Given the description of an element on the screen output the (x, y) to click on. 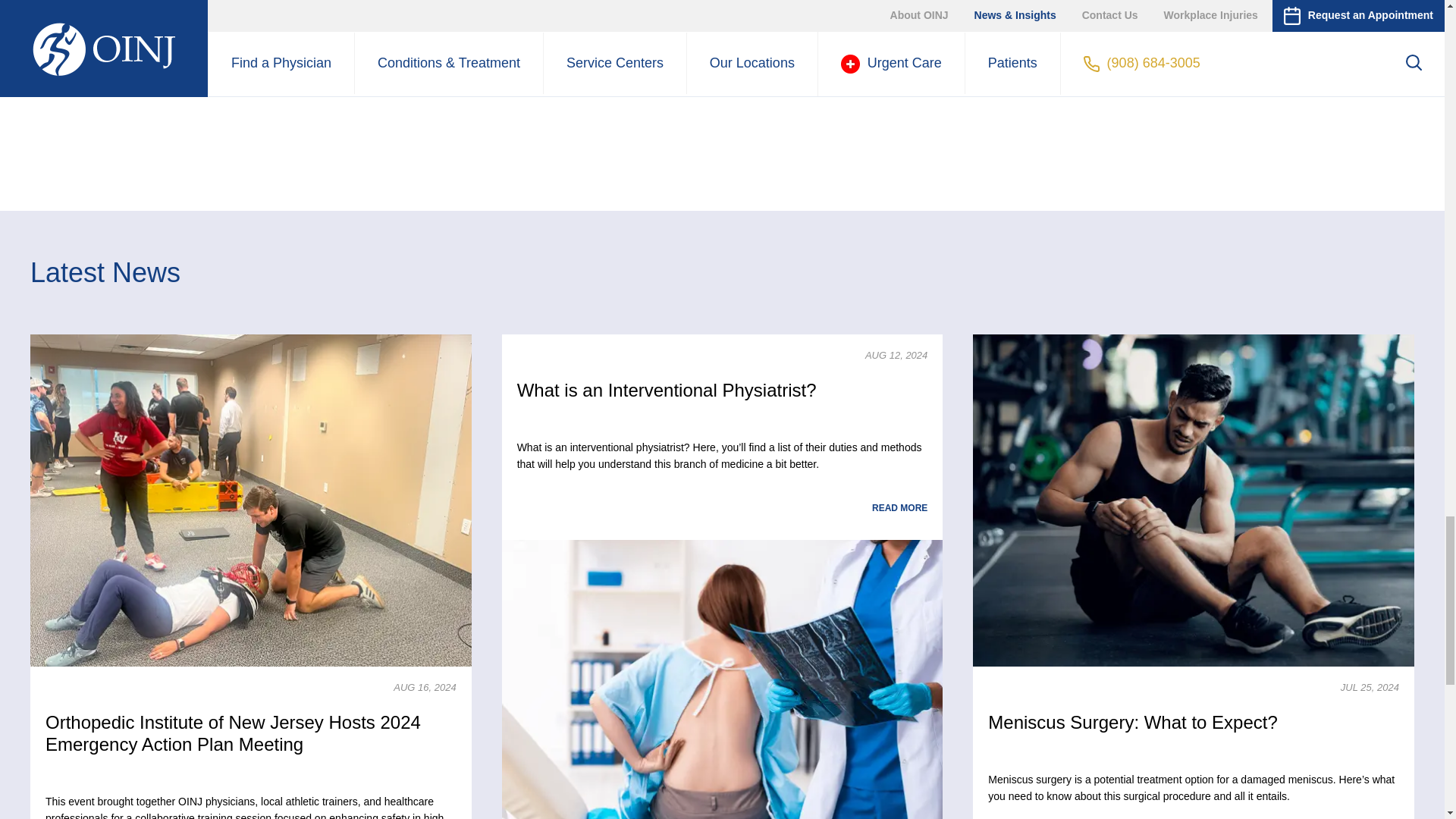
What is an Interventional Physiatrist? (722, 679)
